Given the description of an element on the screen output the (x, y) to click on. 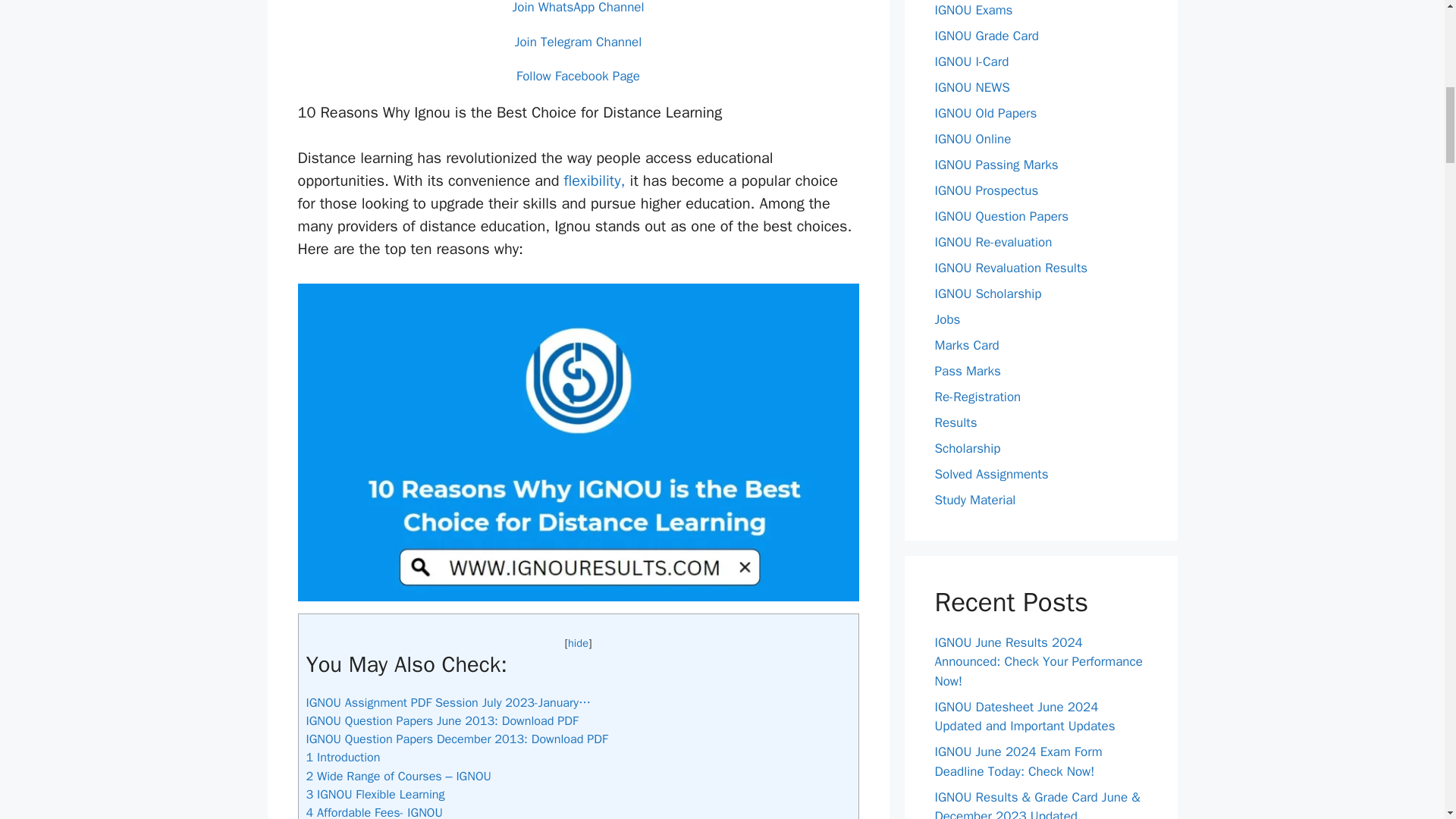
Follow Facebook Page (578, 75)
4 Affordable Fees- IGNOU (373, 811)
hide (577, 643)
flexibility, (595, 180)
IGNOU Question Papers December 2013: Download PDF (456, 738)
Join WhatsApp Channel (577, 7)
3 IGNOU Flexible Learning (375, 794)
1 Introduction (342, 756)
IGNOU Question Papers June 2013: Download PDF (441, 720)
Join Telegram Channel (578, 41)
